Given the description of an element on the screen output the (x, y) to click on. 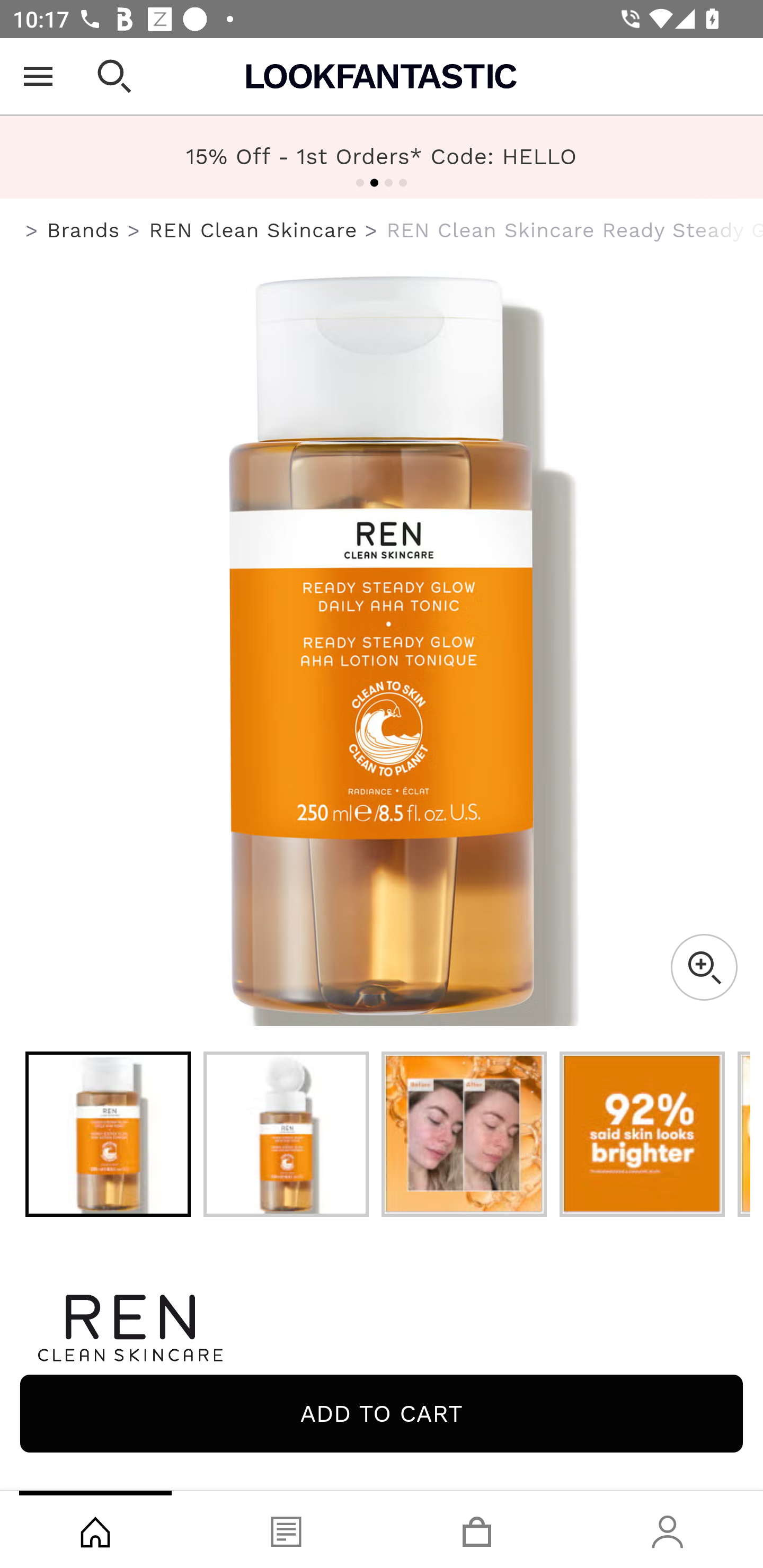
Open Menu (38, 75)
Open search (114, 75)
Lookfantastic USA (381, 75)
us.lookfantastic (32, 230)
Brands (82, 230)
REN Clean Skincare (252, 230)
Zoom (703, 966)
REN Clean Skincare (381, 1327)
Add to cart (381, 1413)
Shop, tab, 1 of 4 (95, 1529)
Blog, tab, 2 of 4 (285, 1529)
Basket, tab, 3 of 4 (476, 1529)
Account, tab, 4 of 4 (667, 1529)
